Given the description of an element on the screen output the (x, y) to click on. 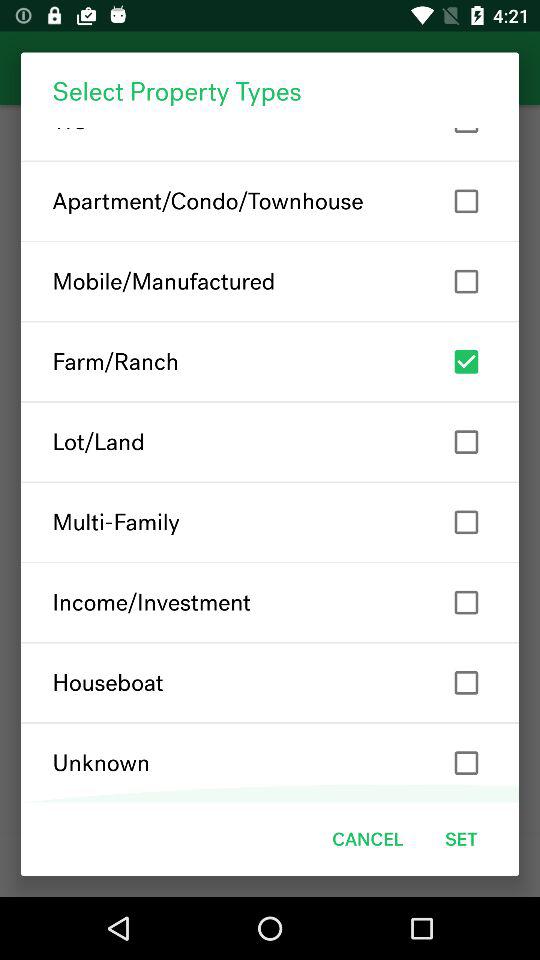
scroll to cancel icon (367, 838)
